Given the description of an element on the screen output the (x, y) to click on. 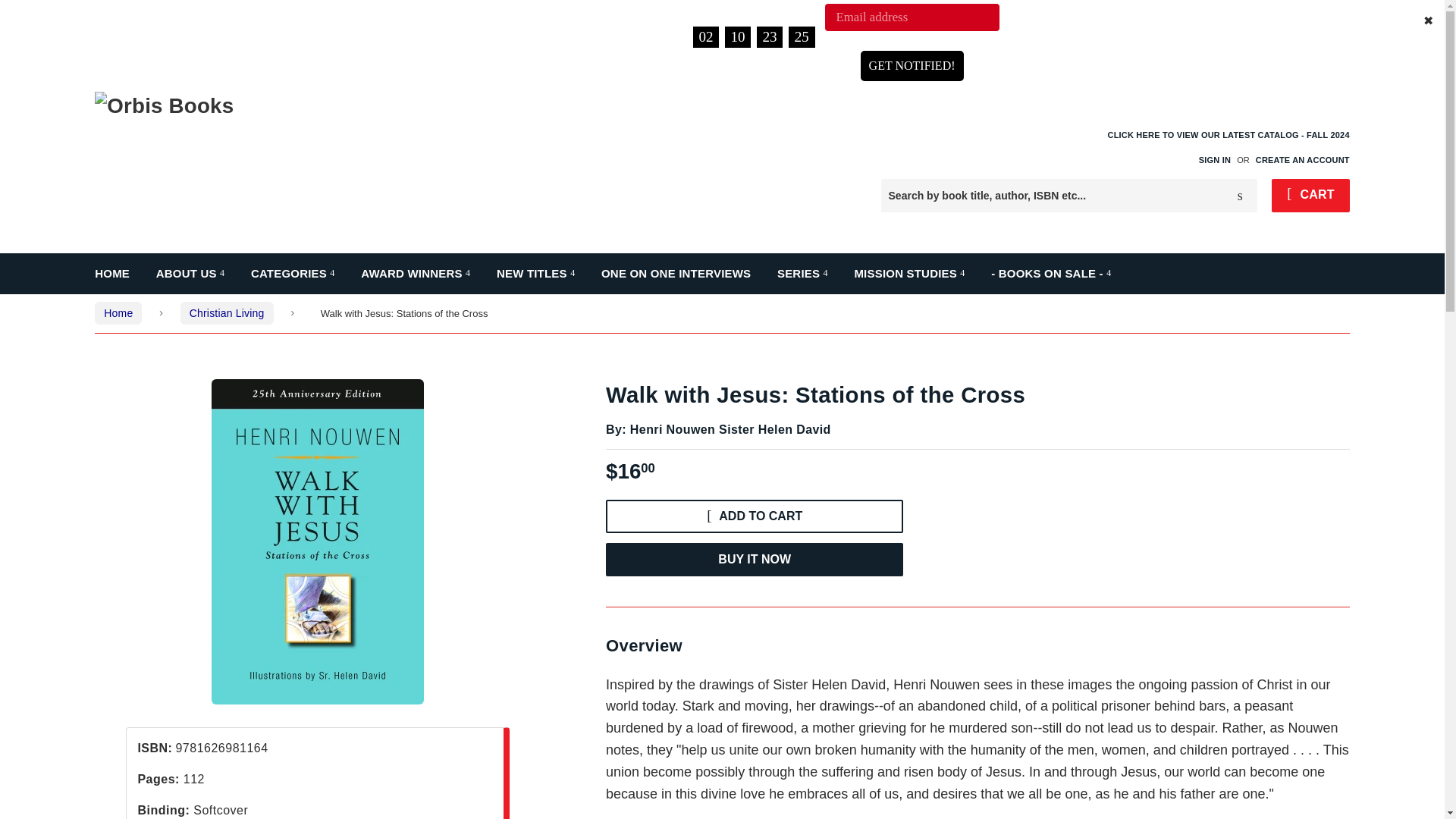
Search (1240, 196)
CLICK HERE TO VIEW OUR LATEST CATALOG - FALL 2024 (1227, 146)
Back to the frontpage (117, 313)
CART (1310, 195)
CREATE AN ACCOUNT (1302, 159)
GET NOTIFIED! (911, 65)
SIGN IN (1214, 159)
